Given the description of an element on the screen output the (x, y) to click on. 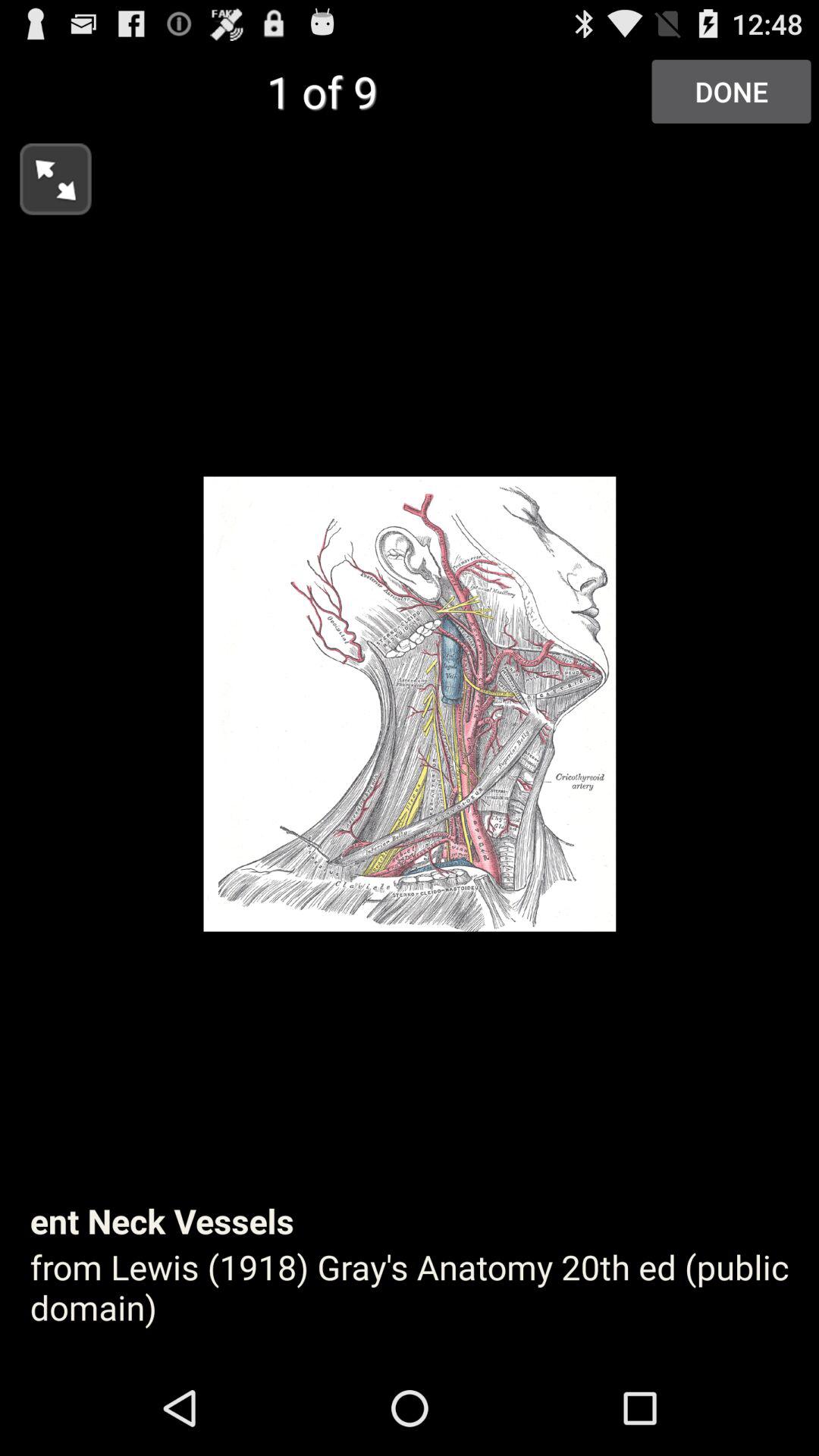
turn on icon to the left of the done item (45, 174)
